Given the description of an element on the screen output the (x, y) to click on. 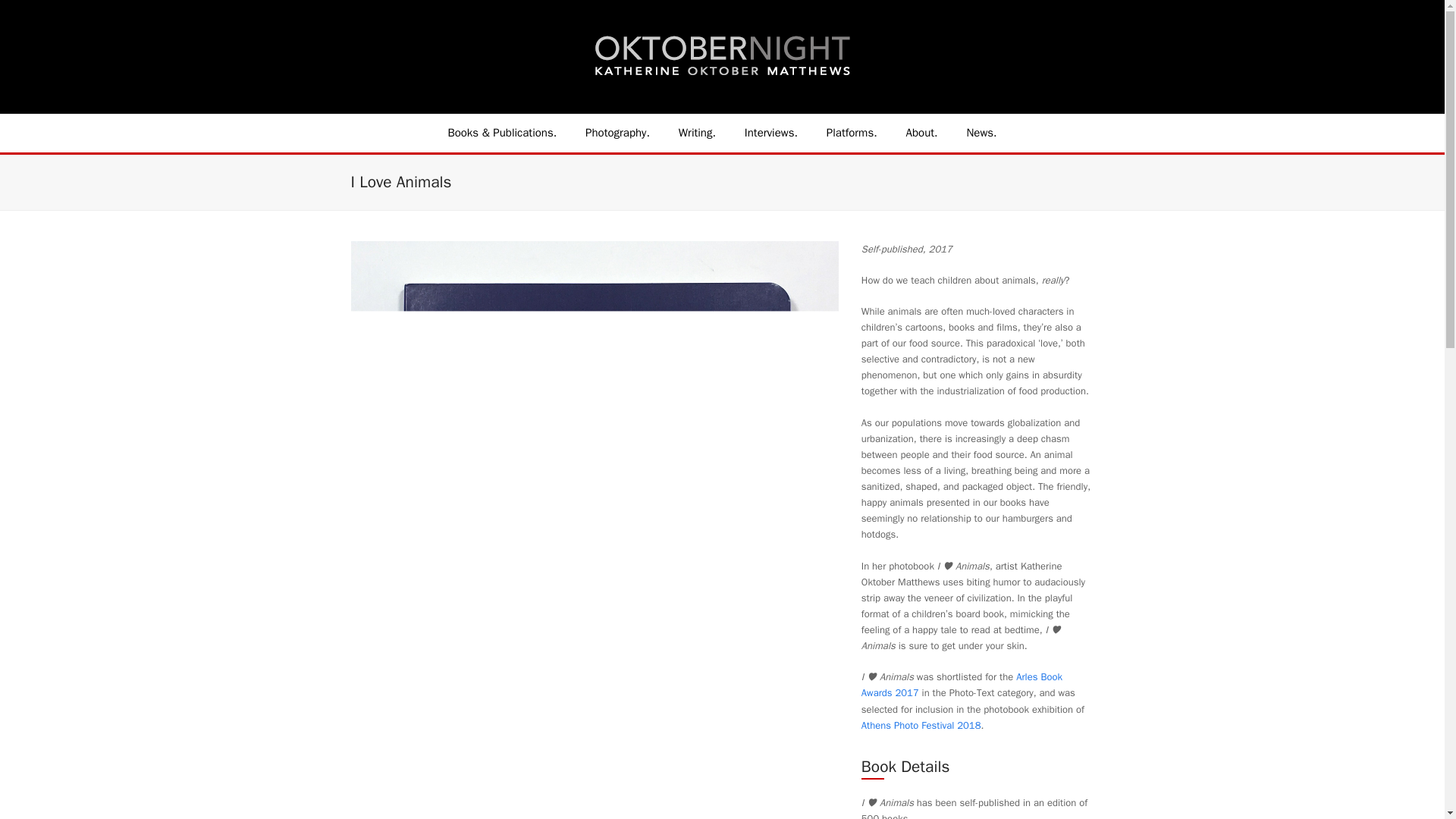
Photography. (617, 133)
Athens Photo Festival 2018 (921, 725)
About. (921, 133)
Platforms. (851, 133)
Arles Book Awards 2017 (961, 684)
Writing. (697, 133)
News. (981, 133)
Interviews. (771, 133)
